Given the description of an element on the screen output the (x, y) to click on. 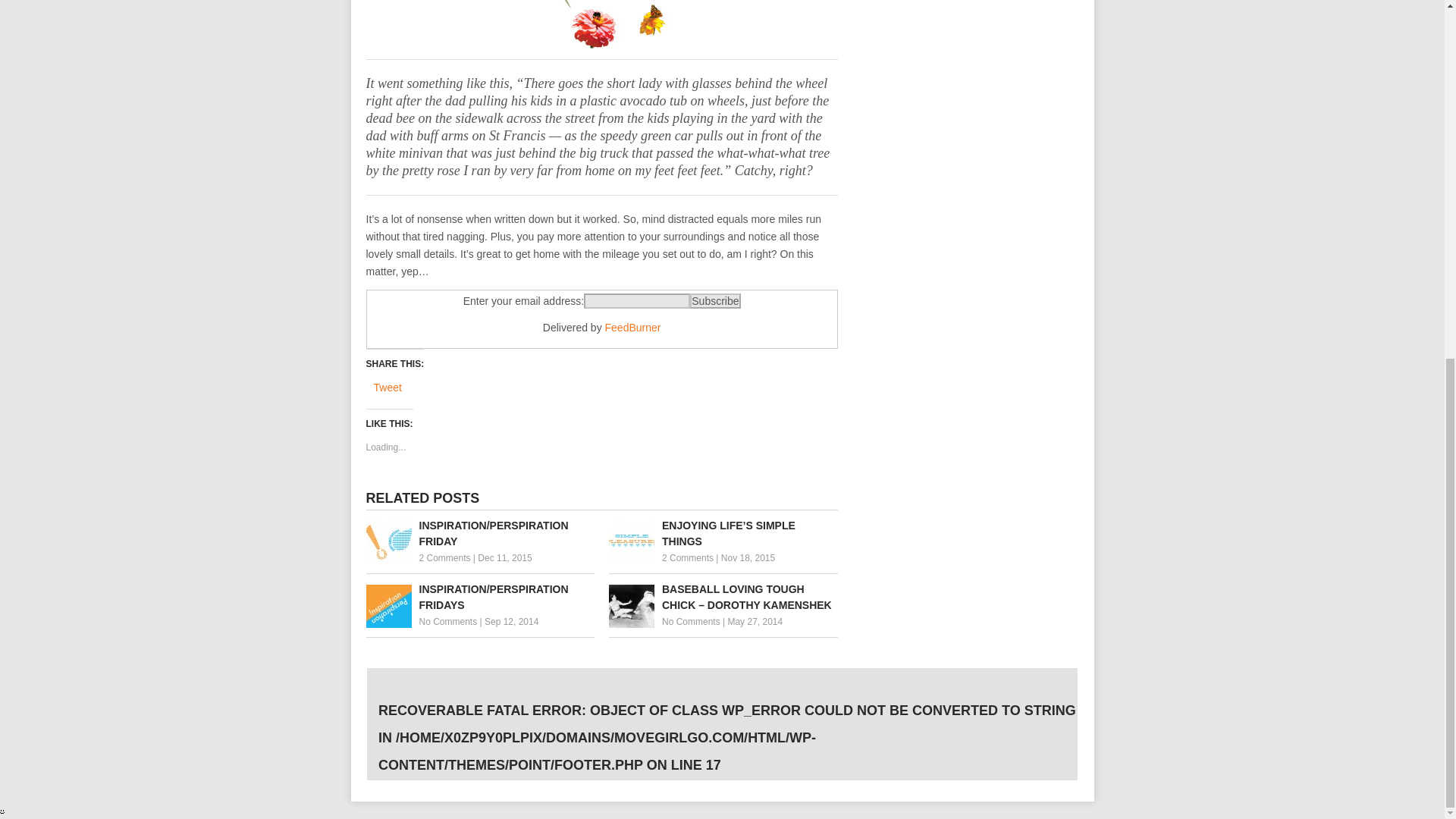
2 Comments (687, 557)
Tweet (386, 387)
2 Comments (444, 557)
FeedBurner (633, 327)
No Comments (448, 621)
No Comments (691, 621)
Subscribe (714, 300)
Subscribe (714, 300)
